Given the description of an element on the screen output the (x, y) to click on. 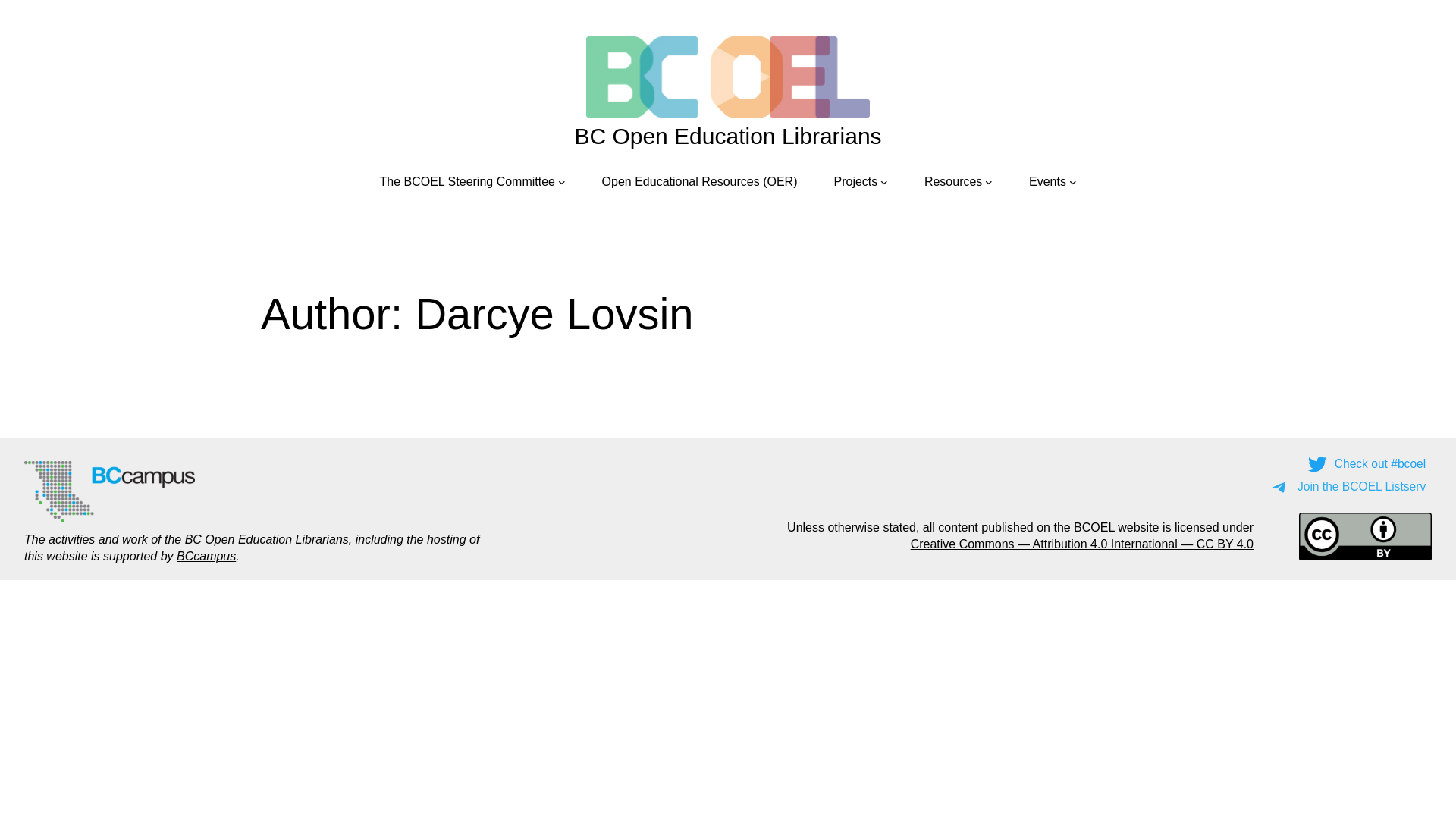
Check out #bcoel Element type: text (1368, 463)
Events Element type: text (1047, 181)
Resources Element type: text (953, 181)
Projects Element type: text (856, 181)
The BCOEL Steering Committee Element type: text (467, 181)
Open Educational Resources (OER) Element type: text (699, 181)
BCcampus Element type: text (205, 555)
BC Open Education Librarians Element type: text (727, 135)
Join the BCOEL Listserv Element type: text (1349, 486)
